Given the description of an element on the screen output the (x, y) to click on. 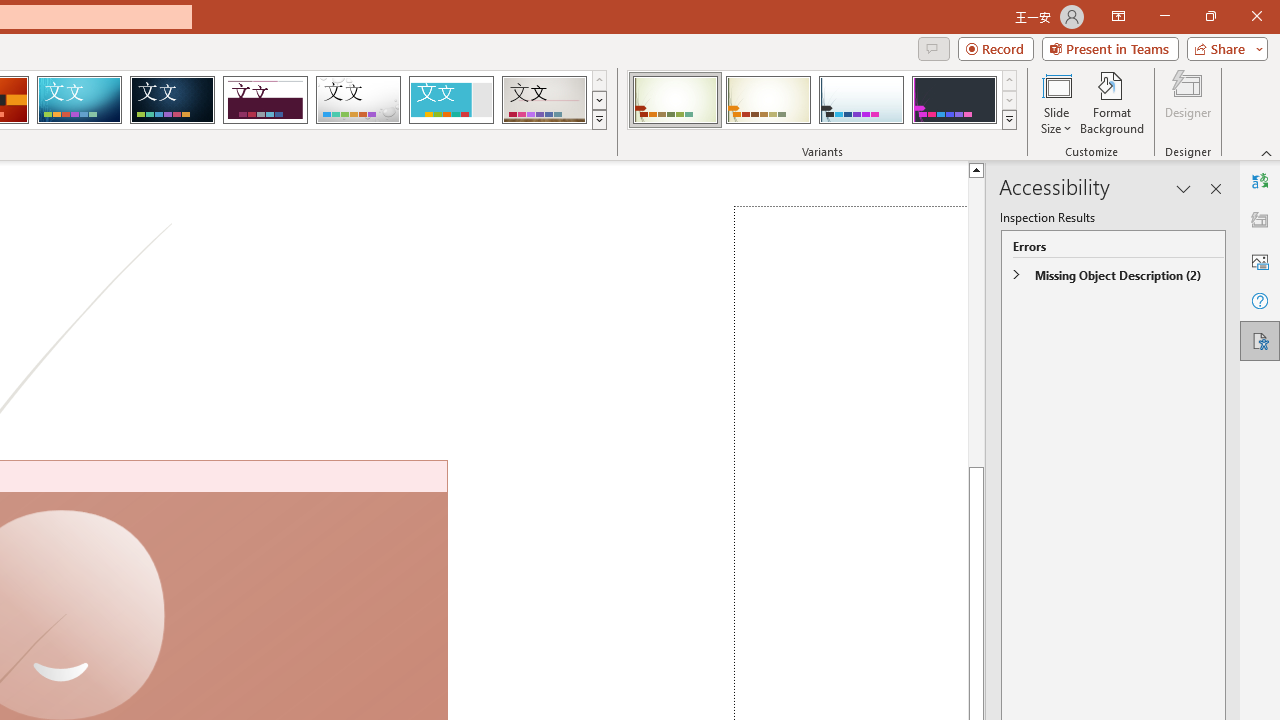
Wisp Variant 1 (674, 100)
Slide Size (1056, 102)
Translator (1260, 180)
AutomationID: ThemeVariantsGallery (822, 99)
Themes (598, 120)
Damask (171, 100)
Circuit (79, 100)
Wisp Variant 2 (768, 100)
Frame (450, 100)
